Given the description of an element on the screen output the (x, y) to click on. 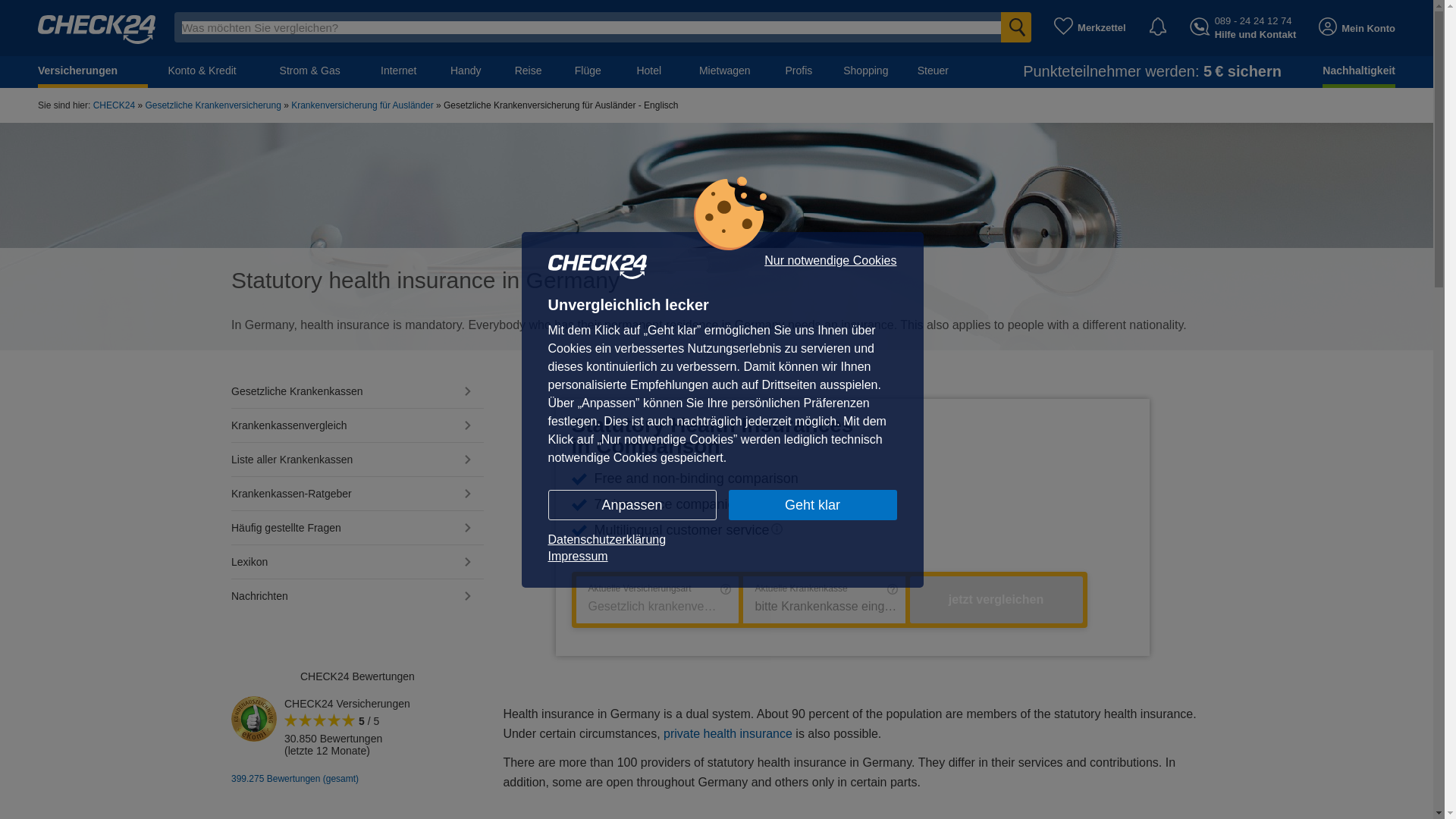
Nur notwendige Cookies (830, 260)
Impressum (721, 555)
Anpassen (631, 504)
Versicherungen (92, 71)
Mein Konto (1356, 27)
Geht klar (812, 504)
